Given the description of an element on the screen output the (x, y) to click on. 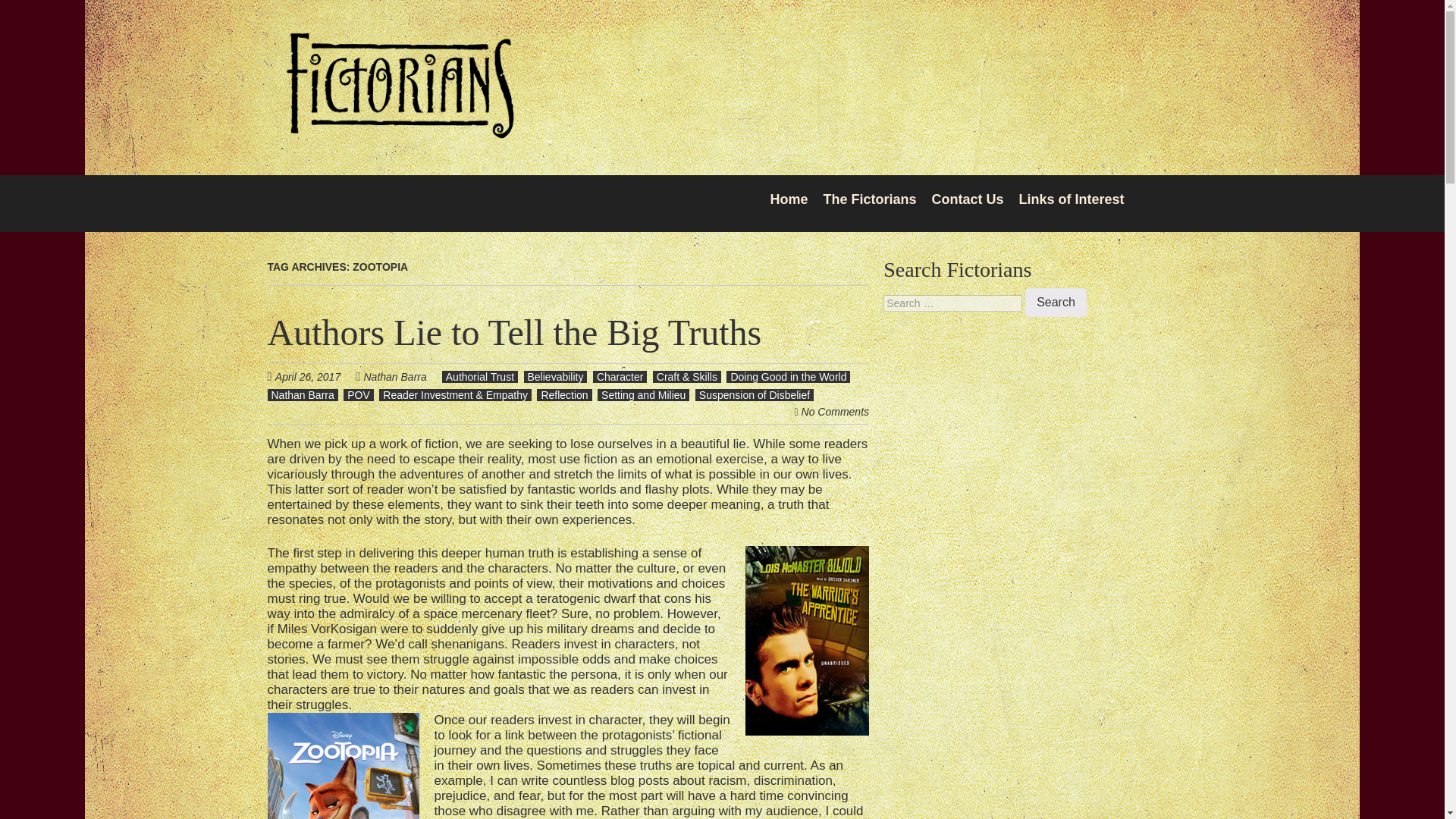
Doing Good in the World (788, 377)
View all posts by Nathan Barra (395, 377)
The Fictorians (868, 199)
Search (1055, 302)
April 26, 2017 (315, 376)
Authors Lie to Tell the Big Truths (513, 332)
Character (619, 377)
Reflection (564, 395)
The Fictorians (399, 129)
Believability (554, 377)
Suspension of Disbelief (754, 395)
Search (1055, 302)
Setting and Milieu (642, 395)
Search (1055, 302)
Links of Interest (1070, 199)
